Given the description of an element on the screen output the (x, y) to click on. 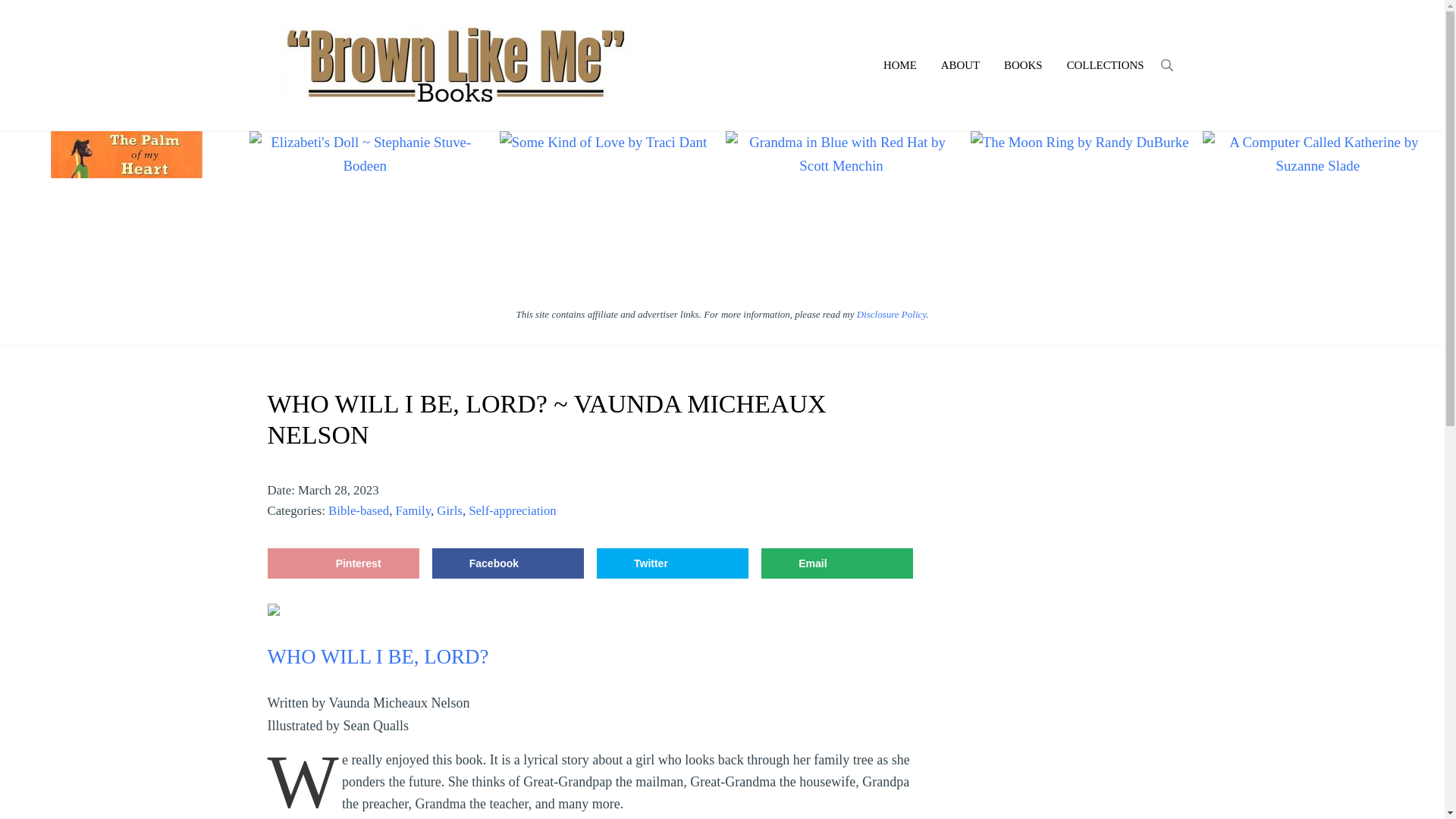
WHO WILL I BE, LORD? (376, 656)
Share on Twitter (672, 562)
Girls (449, 510)
Family (413, 510)
Pinterest (342, 562)
Email (836, 562)
Save to Pinterest (342, 562)
Disclosure Policy (891, 314)
Facebook (507, 562)
COLLECTIONS (1105, 64)
Send over email (836, 562)
Twitter (672, 562)
Bible-based (358, 510)
Share on Facebook (507, 562)
Self-appreciation (512, 510)
